Given the description of an element on the screen output the (x, y) to click on. 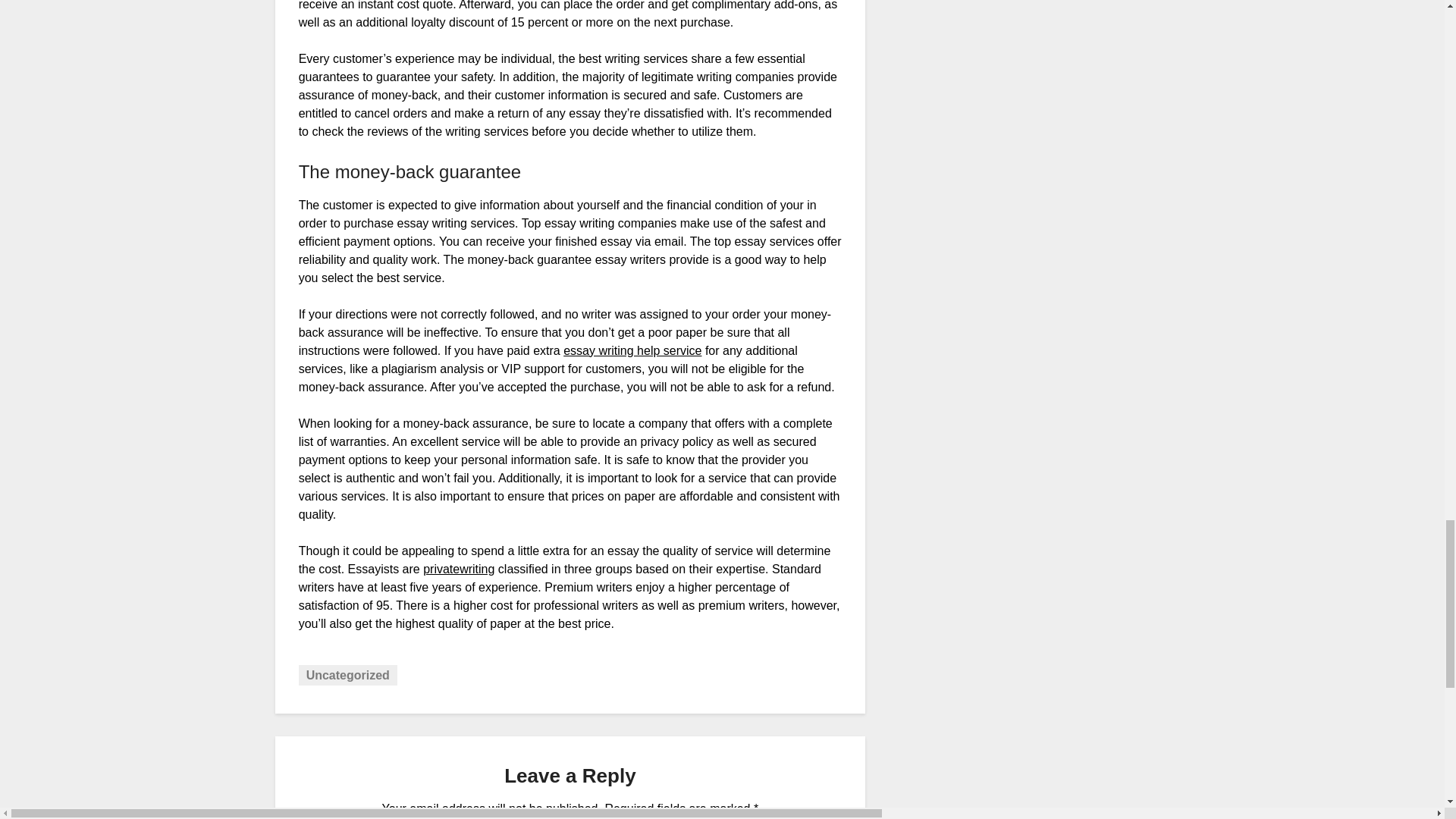
essay writing help service (632, 350)
Uncategorized (347, 675)
privatewriting (459, 568)
